Given the description of an element on the screen output the (x, y) to click on. 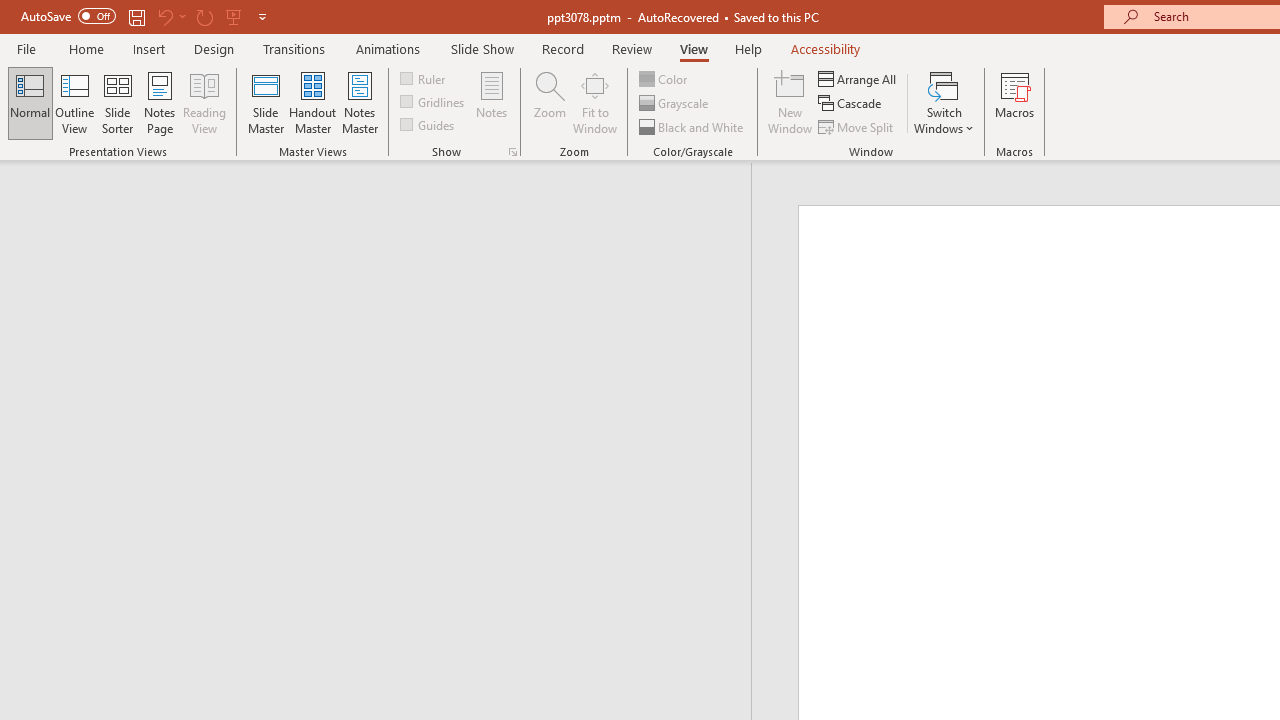
Notes Master (360, 102)
Grid Settings... (512, 151)
Slide Master (265, 102)
Move Split (857, 126)
Macros (1014, 102)
Ruler (423, 78)
